Given the description of an element on the screen output the (x, y) to click on. 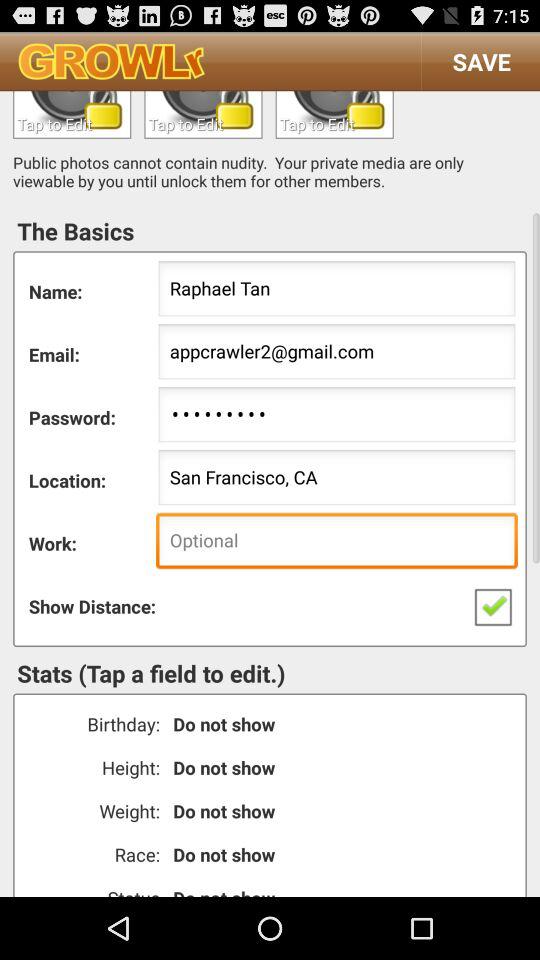
add text to profile workplace (203, 114)
